Given the description of an element on the screen output the (x, y) to click on. 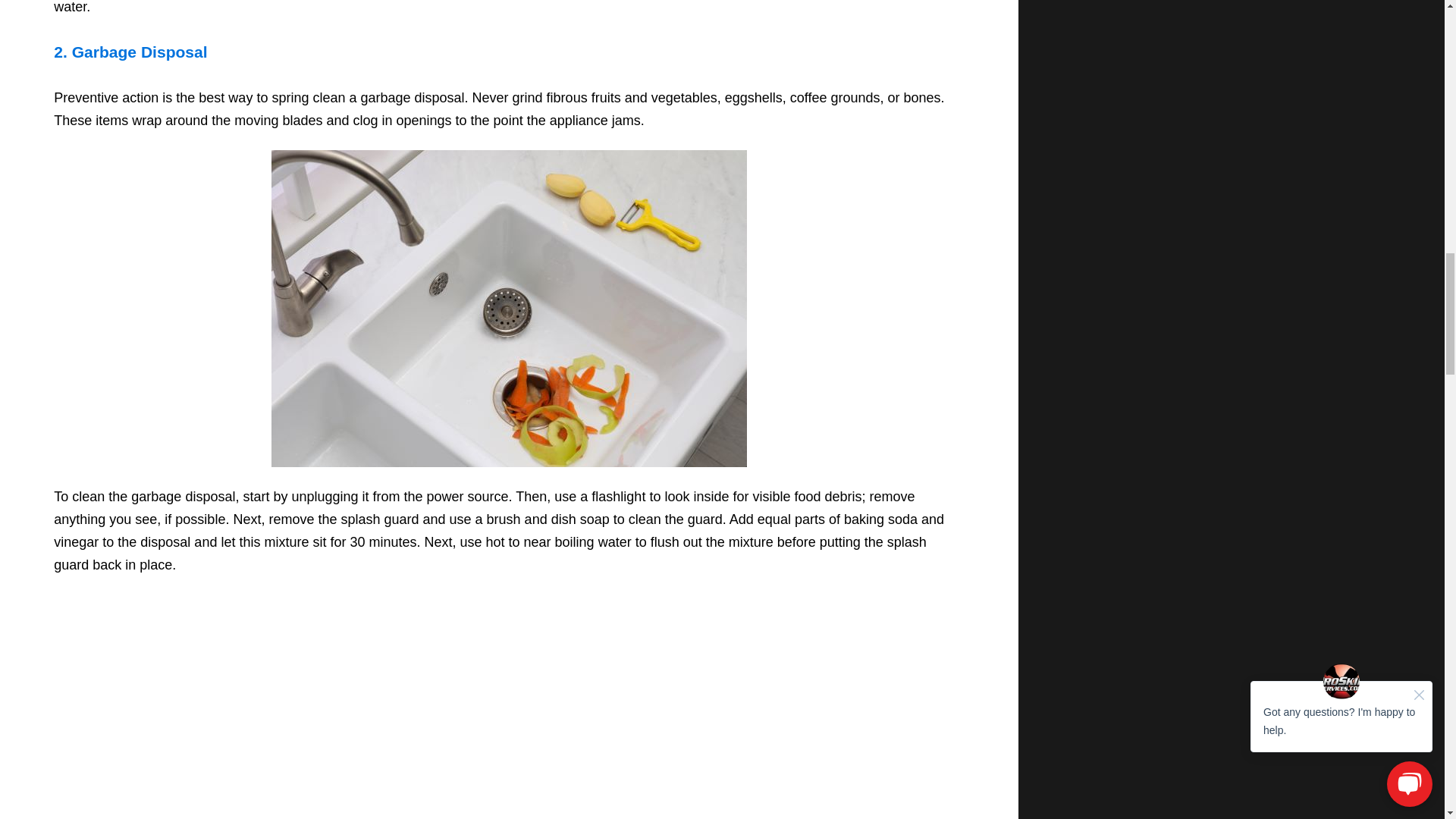
YouTube video player (508, 702)
